Given the description of an element on the screen output the (x, y) to click on. 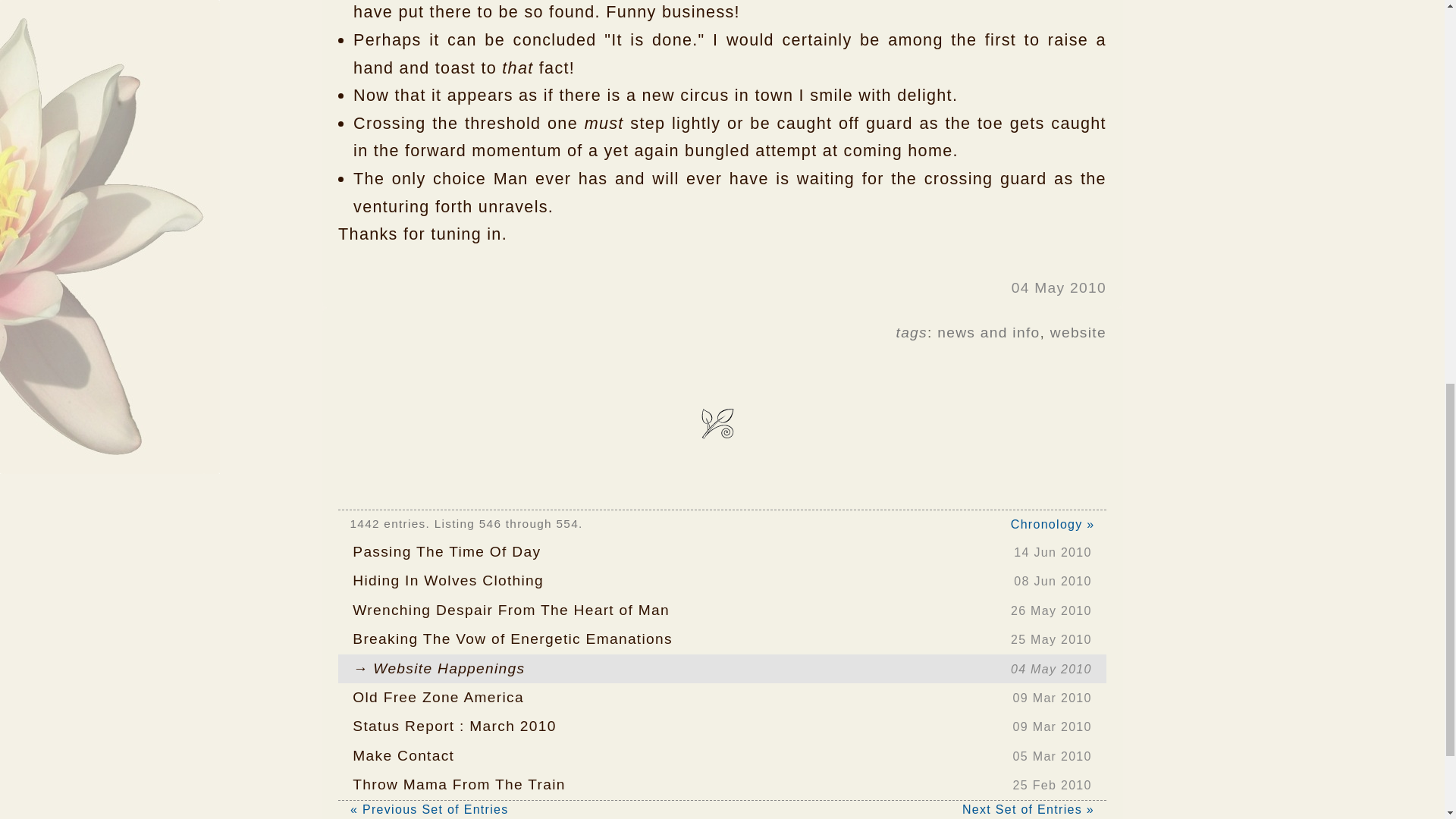
tags (721, 784)
news and info (911, 332)
website (721, 697)
